Given the description of an element on the screen output the (x, y) to click on. 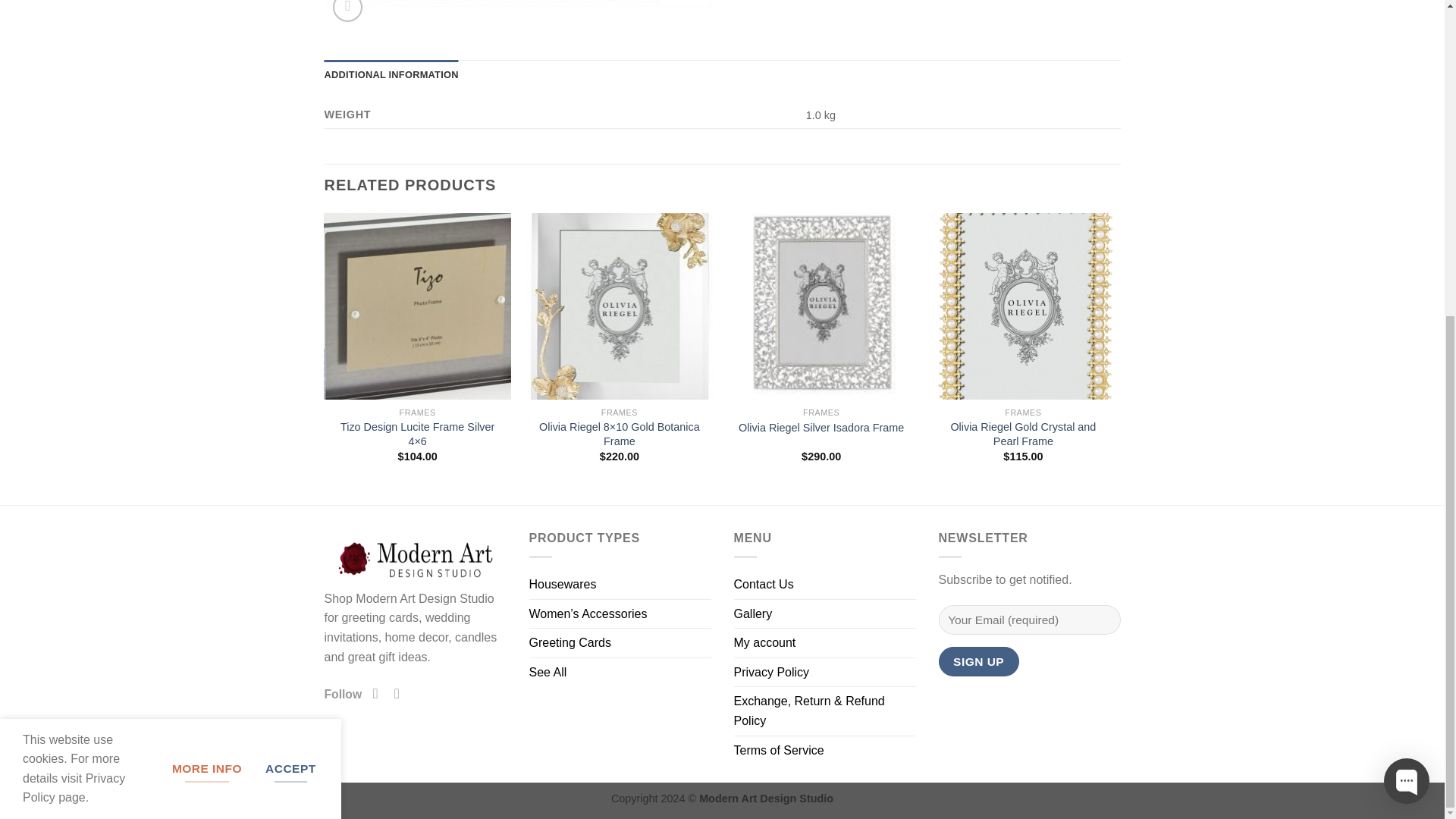
Sign Up (979, 661)
